Given the description of an element on the screen output the (x, y) to click on. 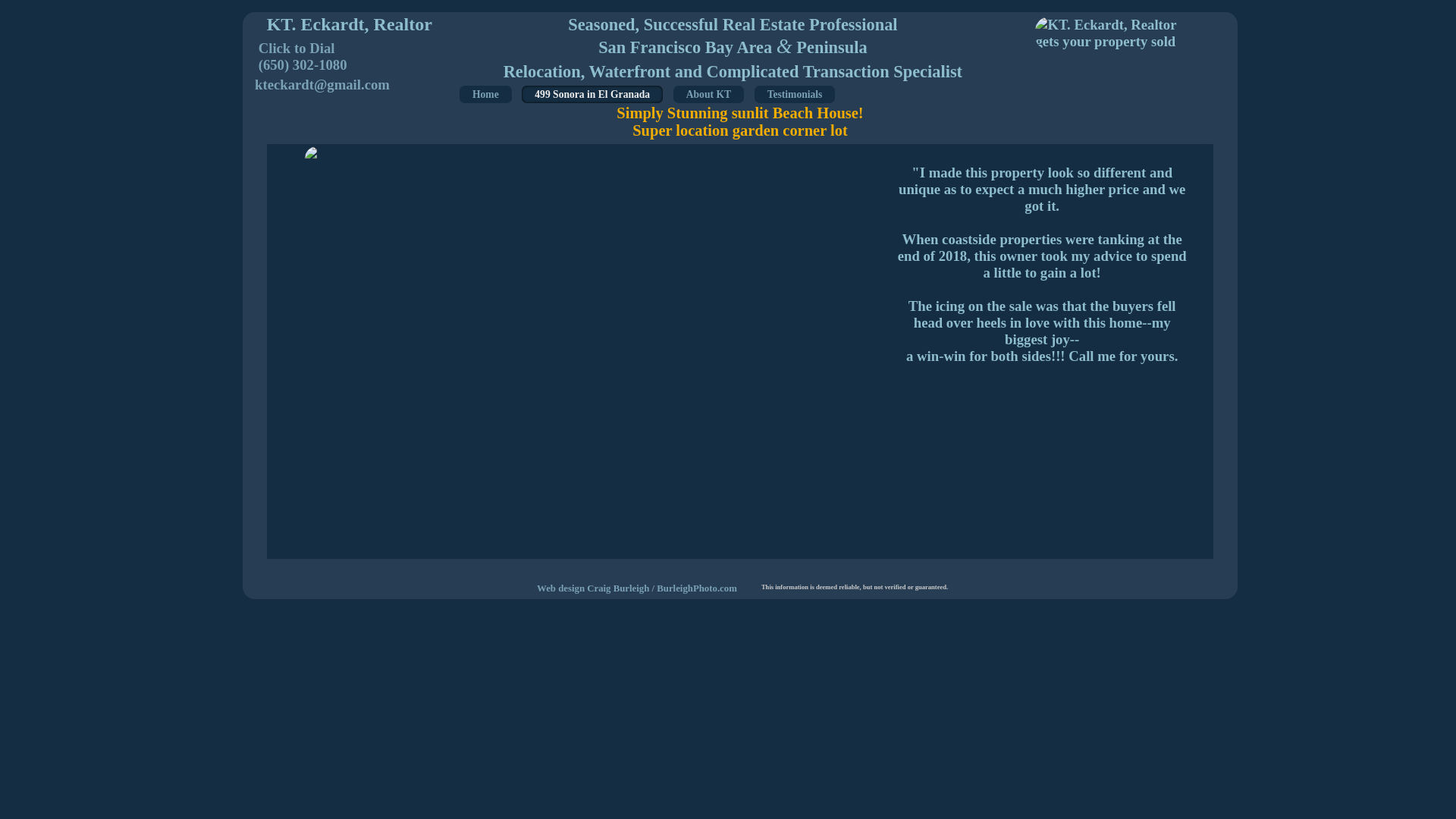
sonora-01 (577, 152)
About KT (708, 94)
Home (486, 94)
Testimonials (794, 94)
499 Sonora in El Granada (591, 94)
